Given the description of an element on the screen output the (x, y) to click on. 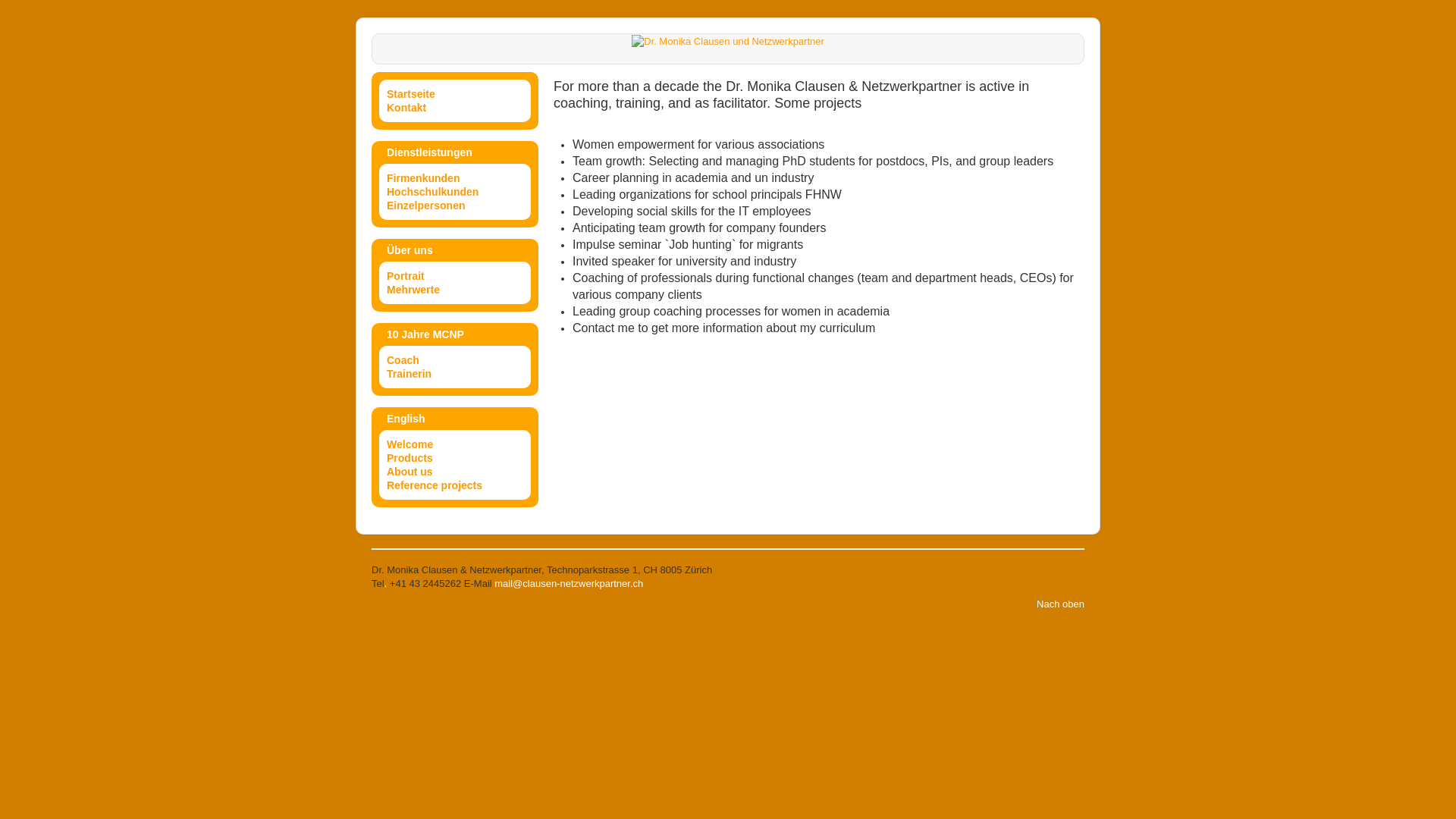
. Element type: text (385, 583)
Coach Element type: text (454, 360)
Hochschulkunden Element type: text (454, 191)
Nach oben Element type: text (1060, 603)
About us Element type: text (454, 471)
Trainerin Element type: text (454, 373)
Kontakt Element type: text (454, 107)
Products Element type: text (454, 457)
mail@clausen-netzwerkpartner.ch Element type: text (568, 583)
Einzelpersonen Element type: text (454, 205)
Welcome Element type: text (454, 444)
Startseite Element type: text (454, 93)
Firmenkunden Element type: text (454, 178)
Portrait Element type: text (454, 275)
Reference projects Element type: text (454, 485)
Mehrwerte Element type: text (454, 289)
